Given the description of an element on the screen output the (x, y) to click on. 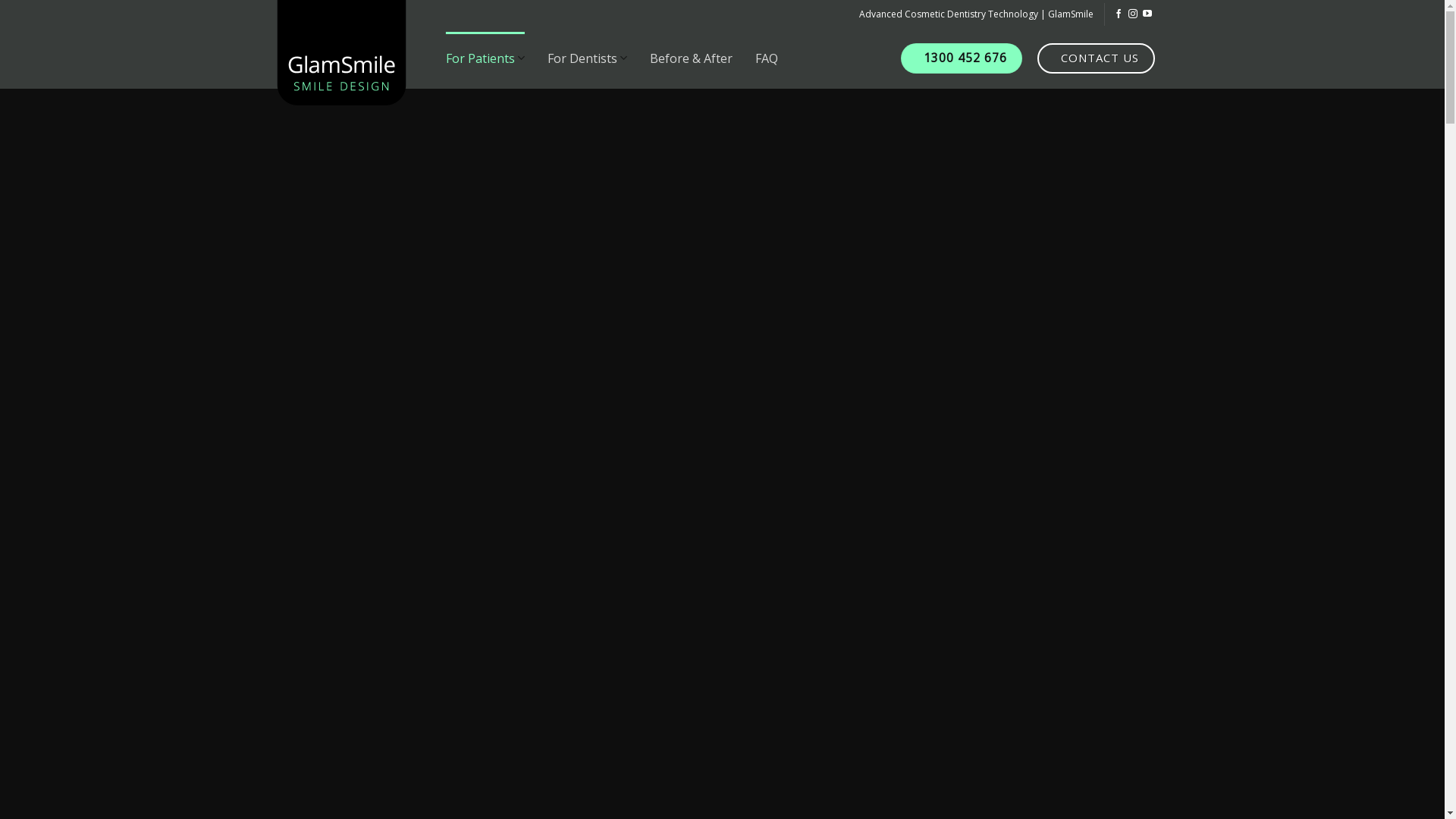
Follow on Facebook Element type: hover (1118, 14)
  1300 452 676 Element type: text (961, 58)
For Dentists Element type: text (587, 57)
FAQ Element type: text (766, 57)
  CONTACT US Element type: text (1095, 57)
Follow on YouTube Element type: hover (1146, 14)
Before & After Element type: text (690, 57)
Follow on Instagram Element type: hover (1132, 14)
Skip to content Element type: text (0, 0)
For Patients Element type: text (484, 57)
